Given the description of an element on the screen output the (x, y) to click on. 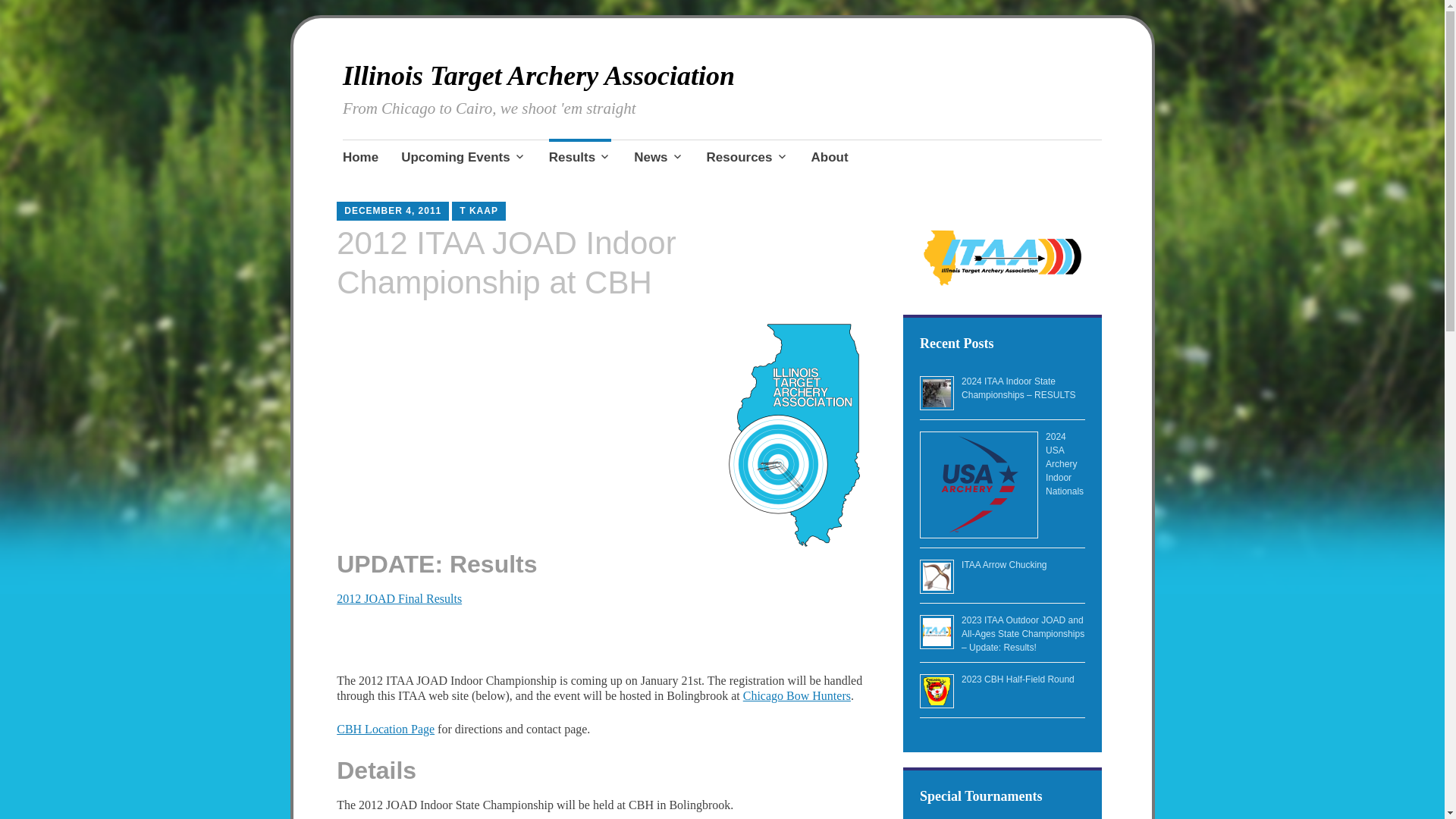
Chicago Bow Hunters (796, 695)
About (829, 158)
ITAA Logo (793, 434)
News (657, 158)
DECEMBER 4, 2011 (392, 210)
T KAAP (478, 210)
Home (360, 158)
Illinois Target Archery Association (538, 75)
Upcoming Events (463, 158)
CBH Location Page (384, 728)
CBH Location Page (384, 728)
2012 JOAD Final Results (398, 598)
Resources (747, 158)
Results (579, 158)
